Given the description of an element on the screen output the (x, y) to click on. 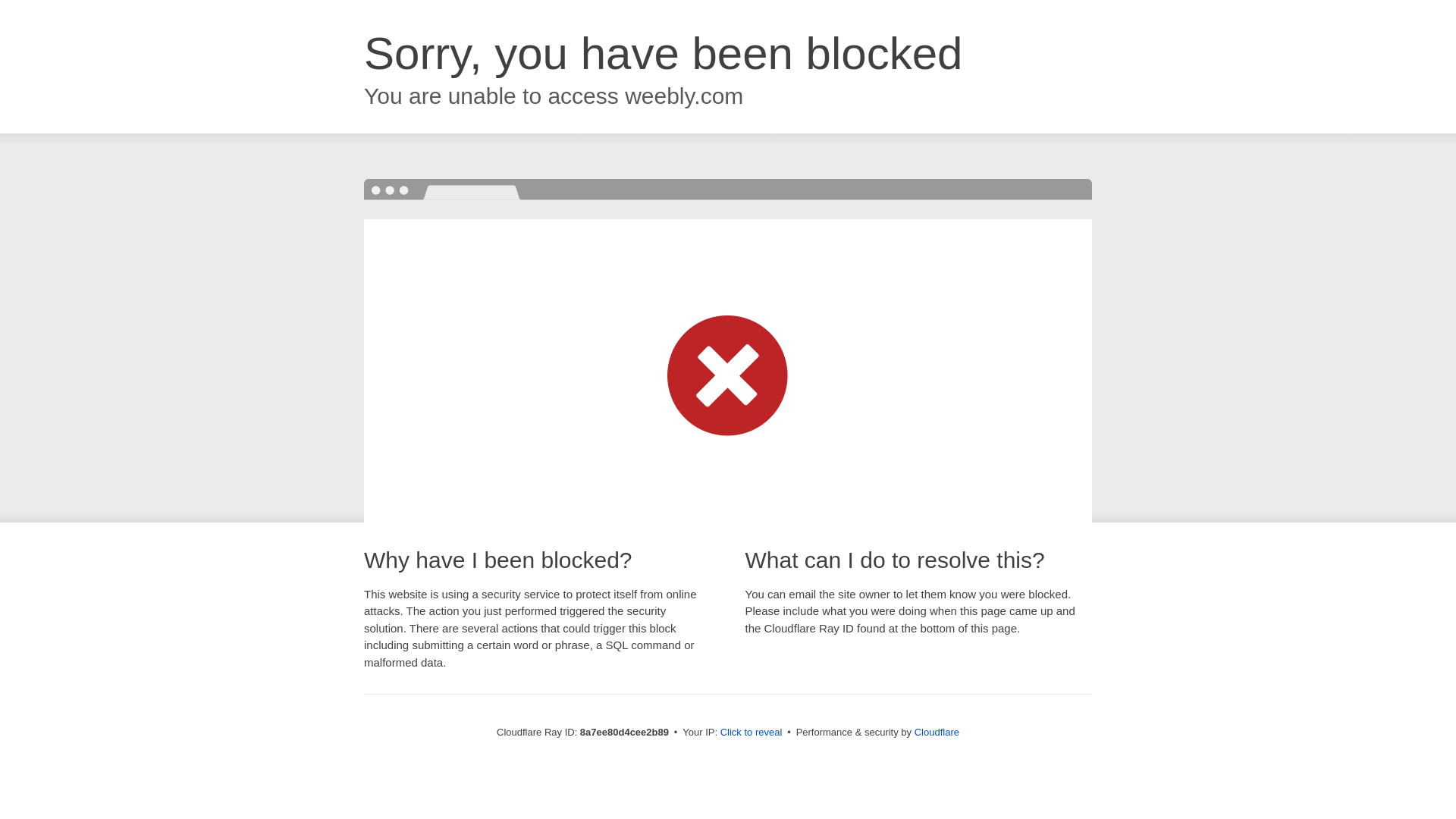
Click to reveal (751, 732)
Cloudflare (936, 731)
